Given the description of an element on the screen output the (x, y) to click on. 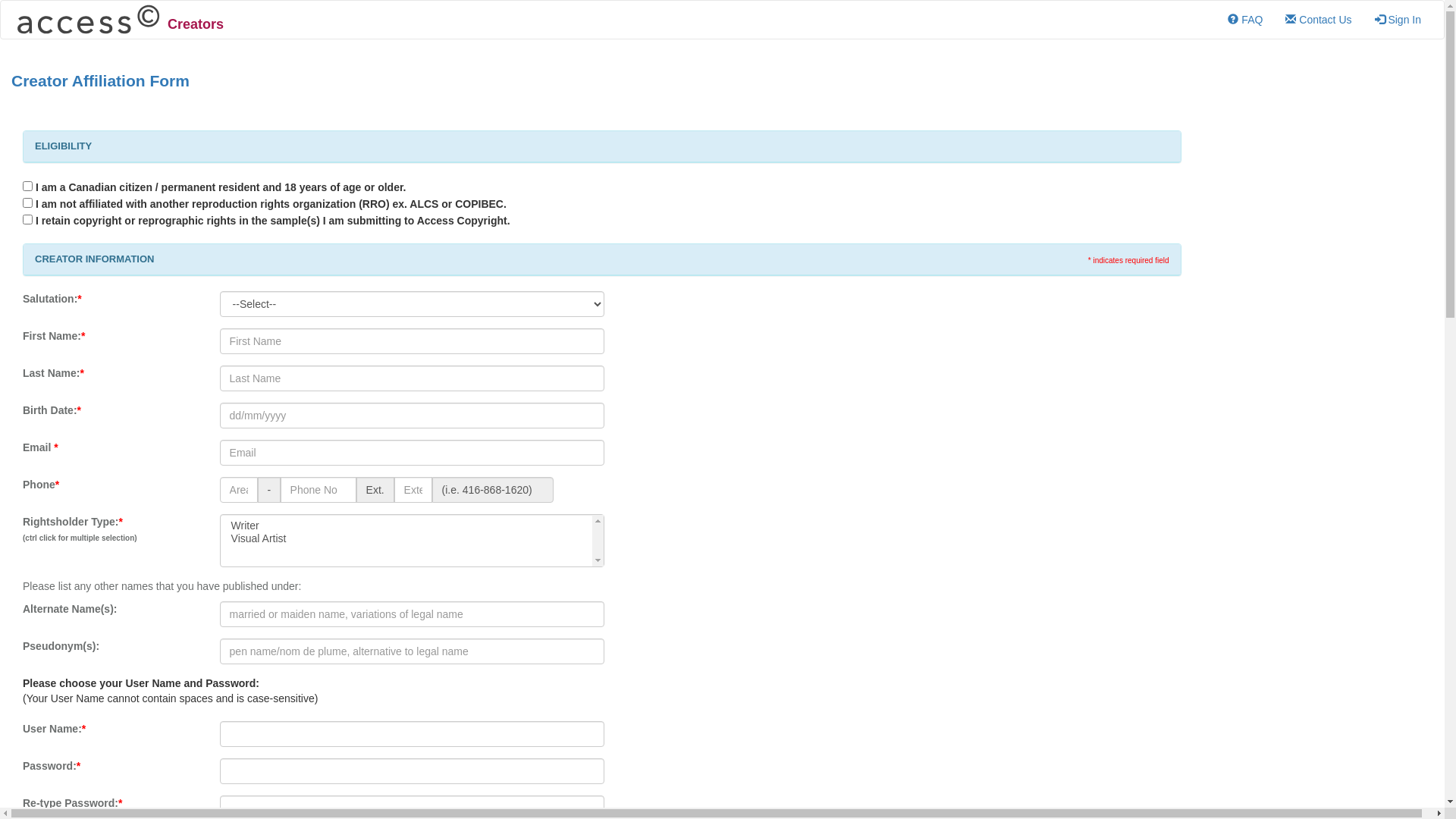
dd/mm/yyyy Element type: hover (411, 415)
Creators Element type: text (117, 19)
Sign In Element type: text (1397, 19)
pen name/nom de plume, alternative to legal name Element type: hover (411, 651)
married or maiden name, variations of legal name Element type: hover (411, 614)
FAQ Element type: text (1245, 19)
Contact Us Element type: text (1318, 19)
